Given the description of an element on the screen output the (x, y) to click on. 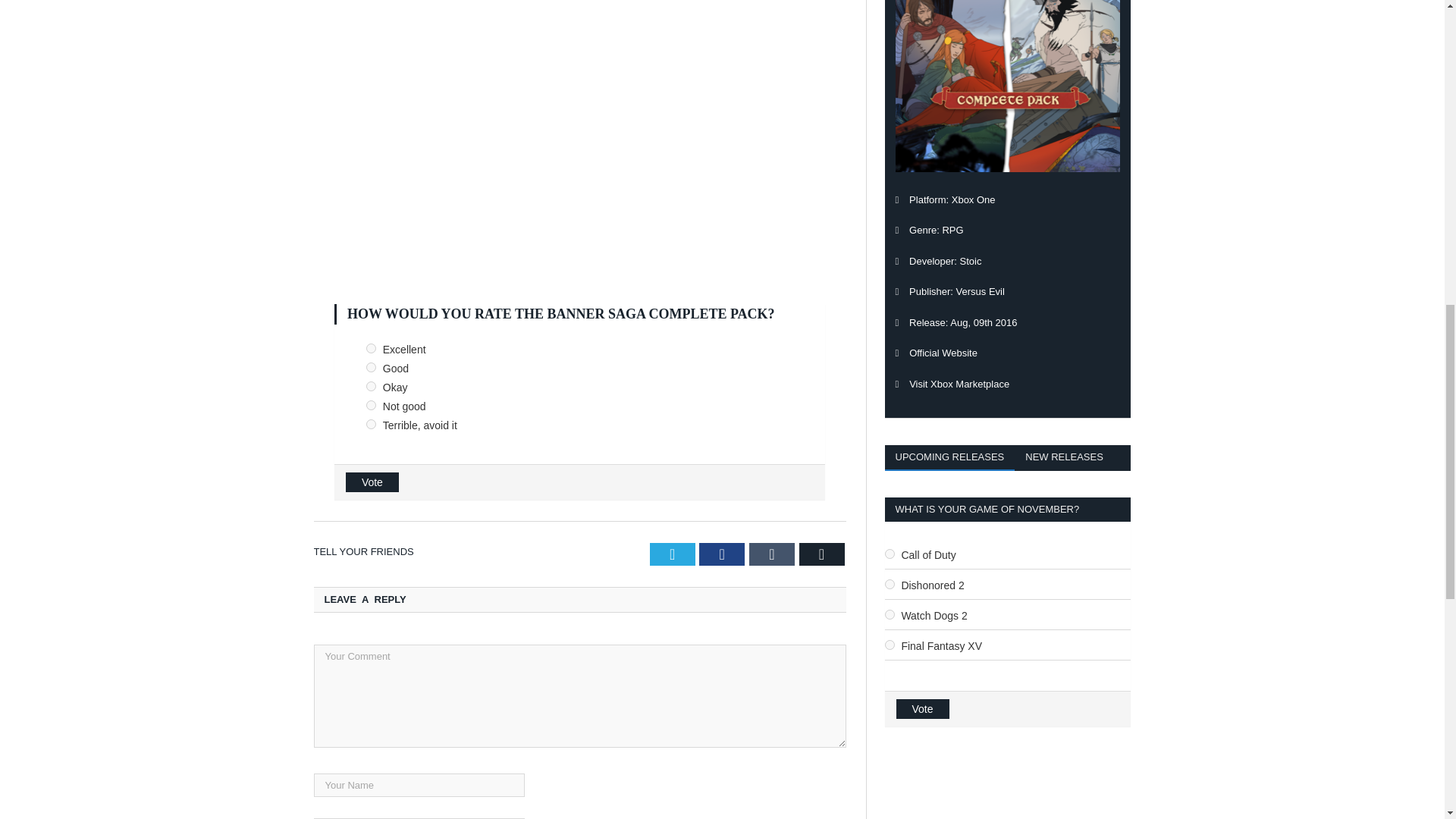
Official Website (942, 352)
945 (888, 553)
Vote (372, 482)
Share on Tumblr (771, 553)
948 (888, 644)
401 (370, 347)
Facebook (721, 553)
946 (888, 583)
Email (821, 553)
Share via Email (821, 553)
402 (370, 367)
Tweet It (672, 553)
947 (888, 614)
Share on Facebook (721, 553)
Visit Xbox Marketplace (958, 383)
